Given the description of an element on the screen output the (x, y) to click on. 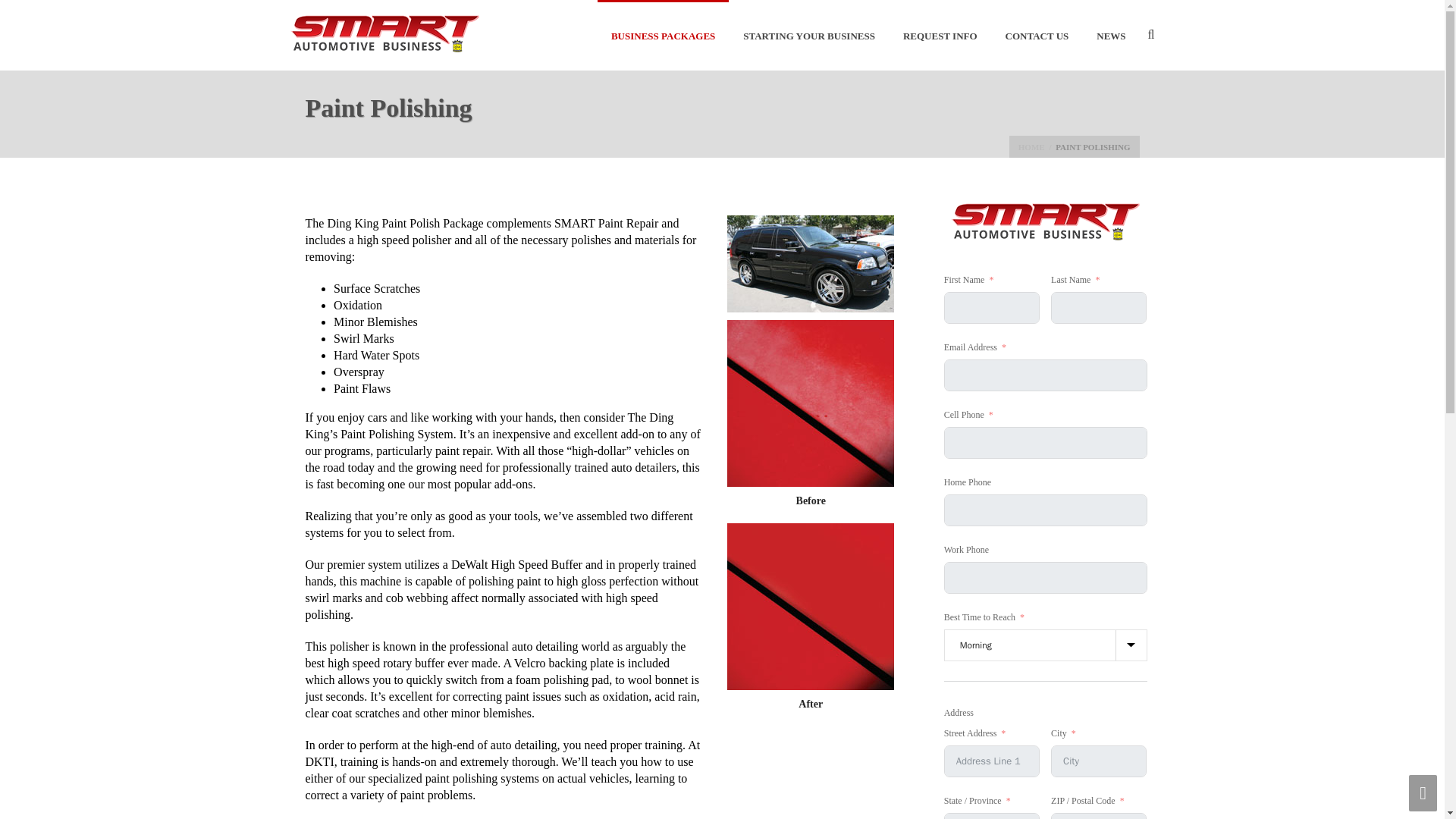
CONTACT US (1037, 35)
BUSINESS PACKAGES (662, 35)
After (809, 606)
Before (809, 403)
HOME (1031, 146)
REQUEST INFO (940, 35)
Smart Automotive Business (384, 35)
STARTING YOUR BUSINESS (808, 35)
